Given the description of an element on the screen output the (x, y) to click on. 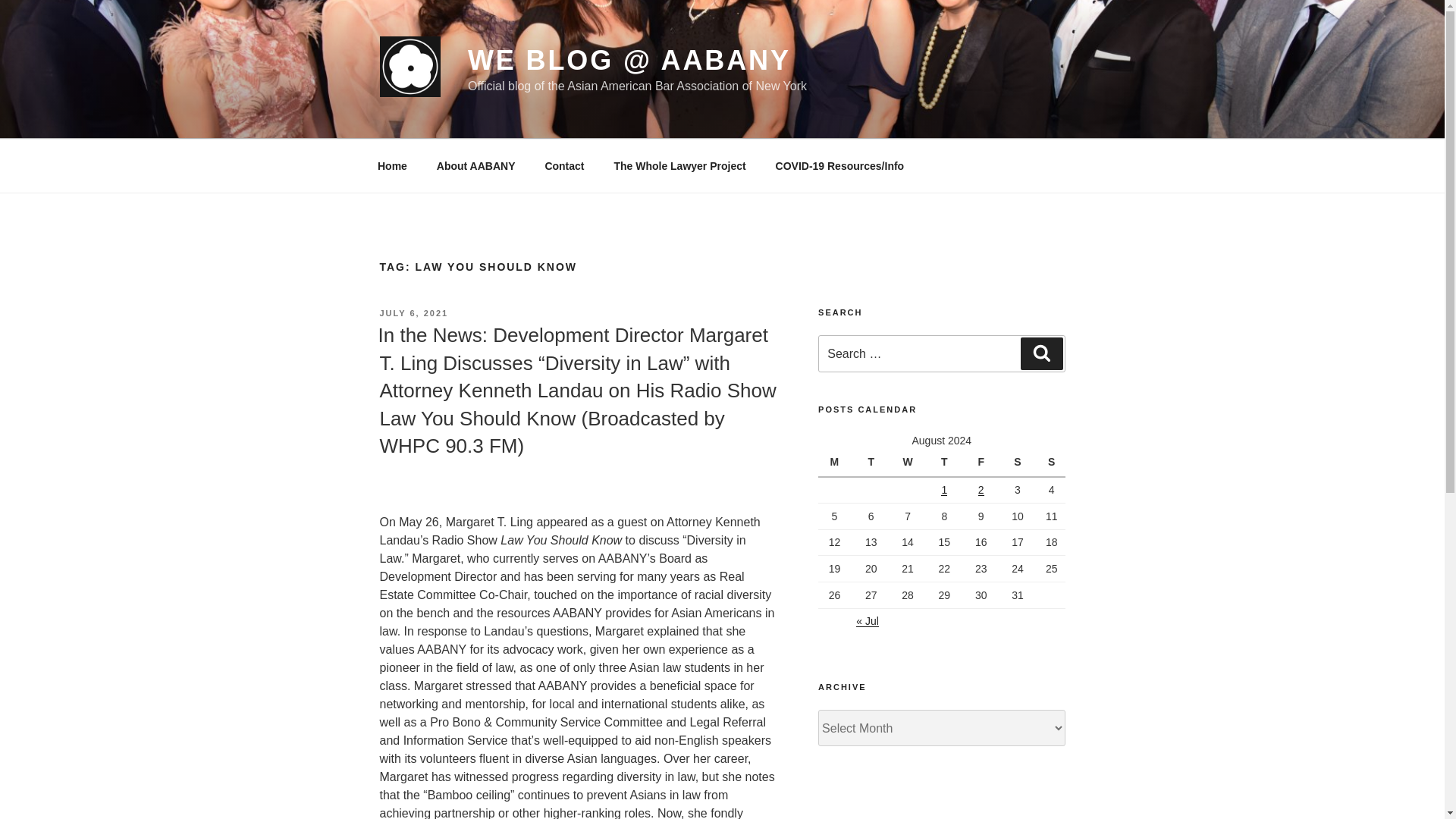
Friday (982, 462)
Home (392, 165)
Monday (836, 462)
Saturday (1019, 462)
Wednesday (909, 462)
Search (1041, 353)
Contact (563, 165)
JULY 6, 2021 (413, 312)
Thursday (945, 462)
About AABANY (475, 165)
Sunday (1051, 462)
The Whole Lawyer Project (678, 165)
Tuesday (872, 462)
